Given the description of an element on the screen output the (x, y) to click on. 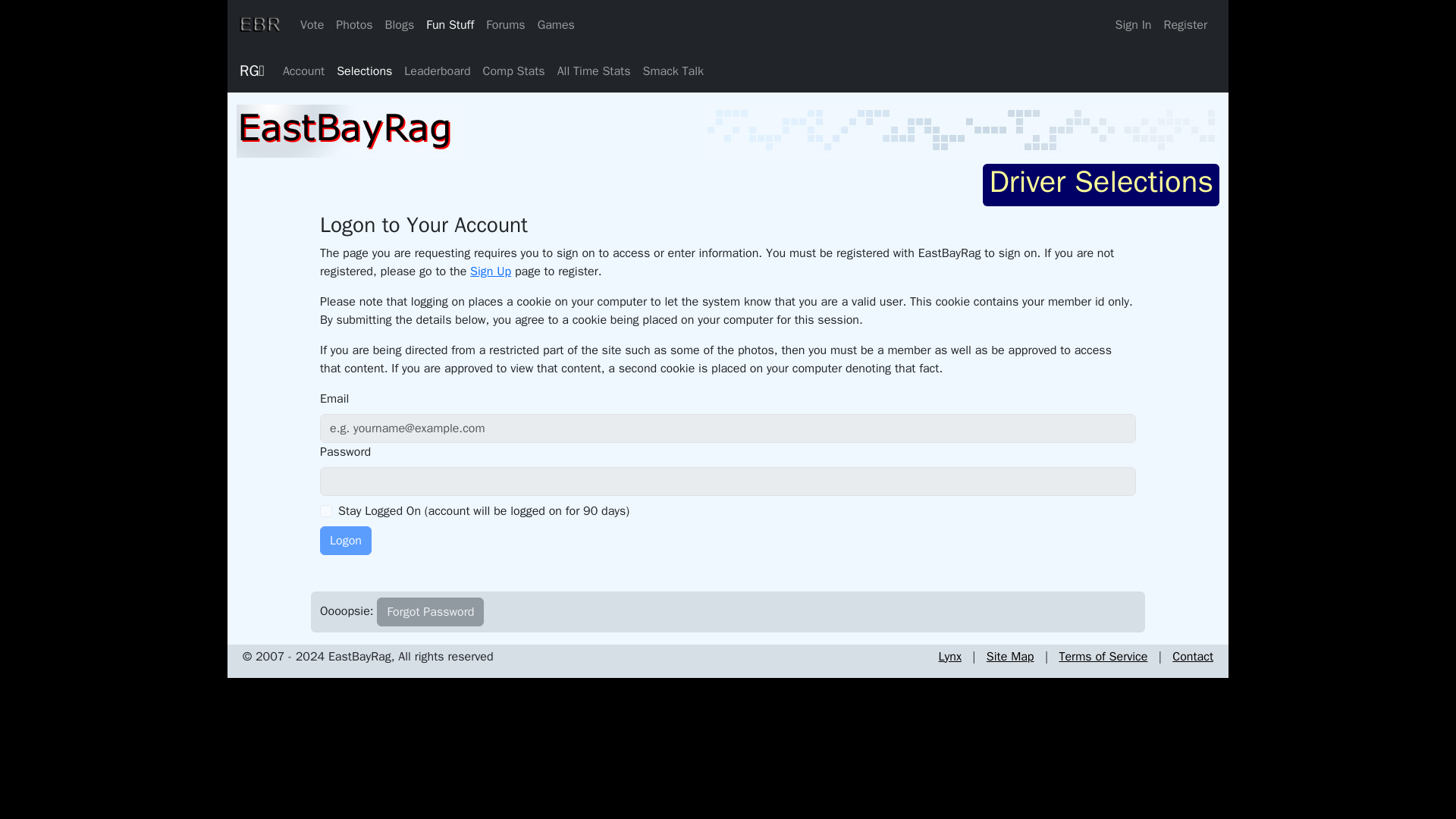
Lynx (949, 656)
Blogs (399, 24)
Vote (312, 24)
Logon (345, 540)
Games (555, 24)
Forgot Password (430, 611)
All Time Stats (594, 71)
Account (303, 71)
Sign Up (490, 271)
Site Map (1010, 656)
Comp Stats (514, 71)
Smack Talk (673, 71)
Register (1184, 24)
Photos (354, 24)
Sign In (1133, 24)
